Given the description of an element on the screen output the (x, y) to click on. 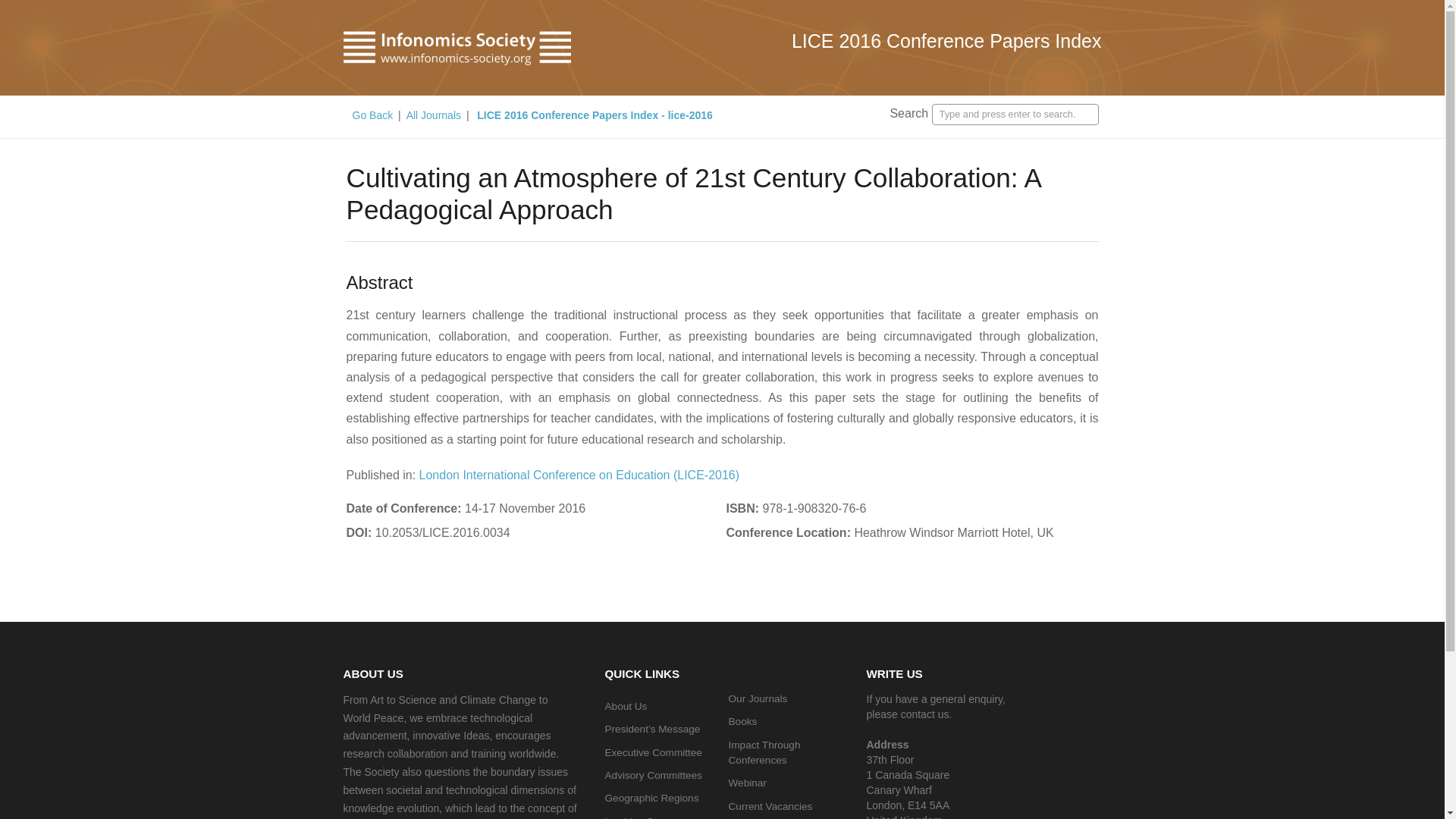
Go Back (373, 115)
Advisory Committees (653, 775)
About Us (626, 706)
Type and press enter to search. (1015, 114)
LICE 2016 Conference Papers Index (947, 40)
 LICE 2016 Conference Papers Index - lice-2016 (592, 115)
All Journals (433, 115)
Executive Committee (653, 752)
LICE 2016 Conference Papers Index (947, 40)
